Given the description of an element on the screen output the (x, y) to click on. 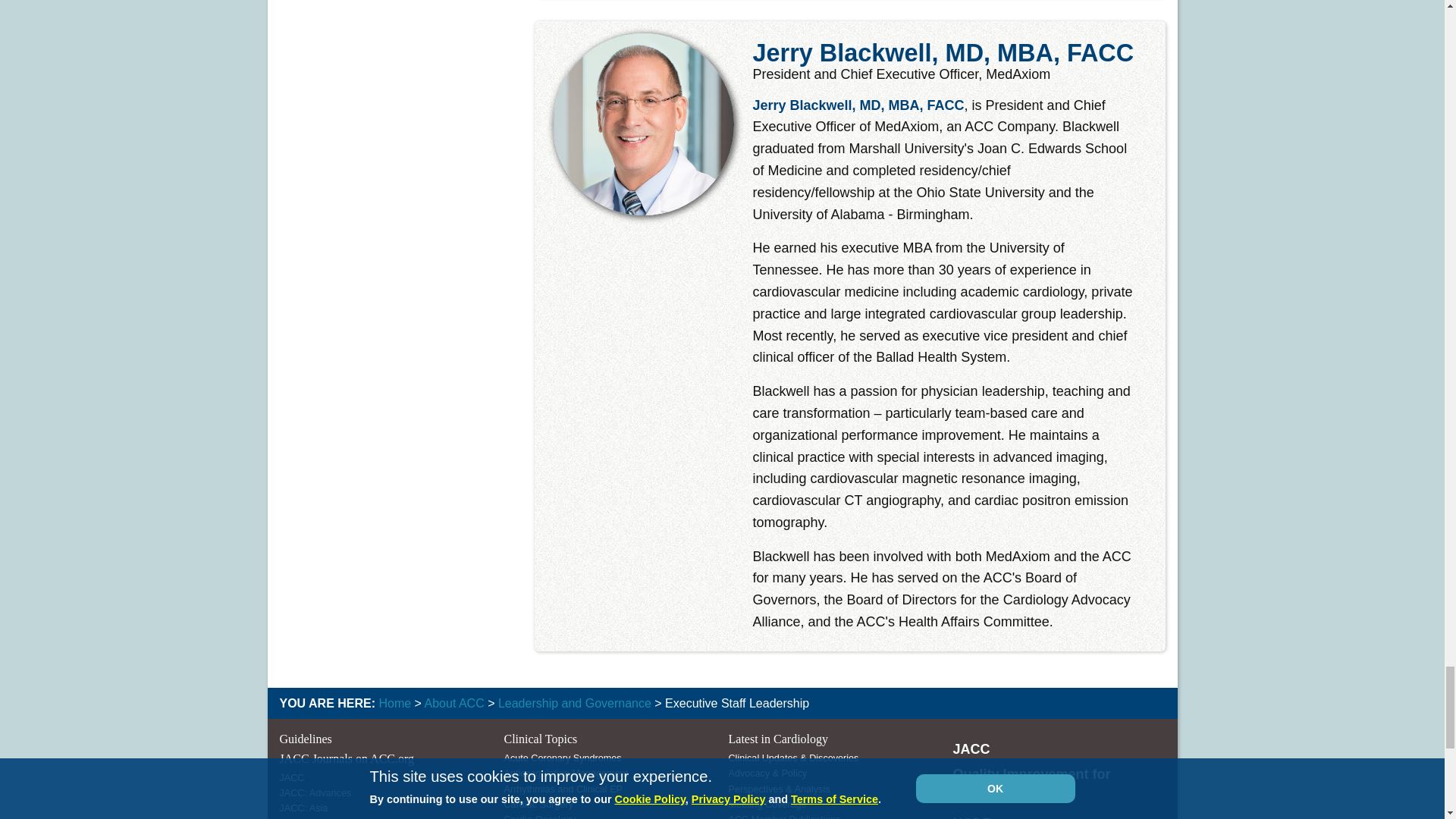
JACC: Advances (314, 792)
Guidelines (305, 738)
